Given the description of an element on the screen output the (x, y) to click on. 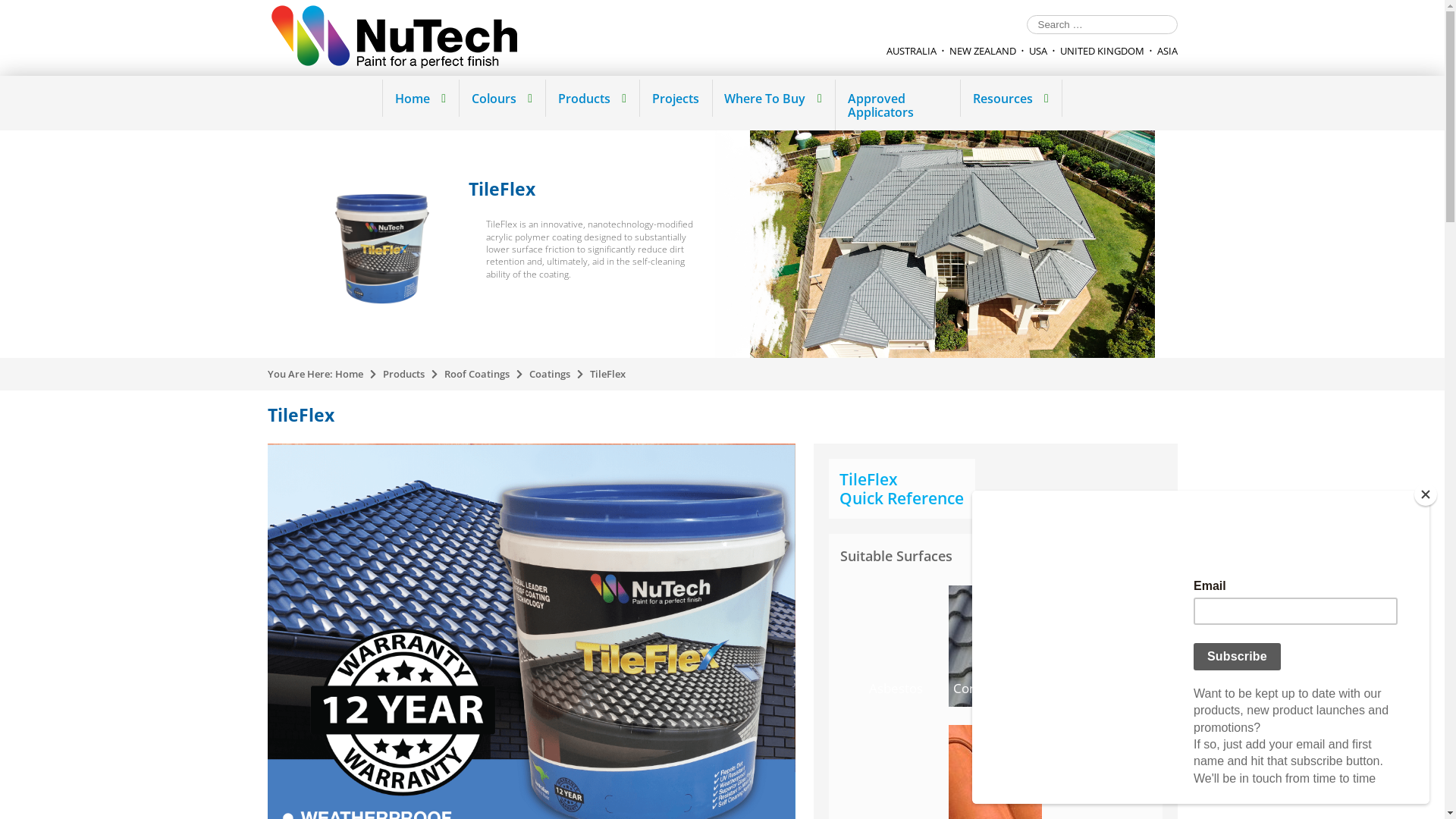
Colours Element type: text (501, 97)
Projects Element type: text (675, 97)
Products Element type: text (591, 97)
Products Element type: text (402, 373)
Approved Applicators Element type: text (896, 104)
UNITED KINGDOM Element type: text (1102, 50)
AUSTRALIA Element type: text (910, 50)
Home Element type: text (419, 97)
Where To Buy Element type: text (772, 97)
Roof Coatings Element type: text (476, 373)
Concrete Tiles Element type: text (994, 645)
Resources Element type: text (1010, 97)
Home Element type: text (349, 373)
Asbestos Element type: text (895, 645)
Search for: Element type: hover (1101, 24)
ASIA Element type: text (1167, 50)
USA Element type: text (1037, 50)
NEW ZEALAND Element type: text (982, 50)
Coatings Element type: text (549, 373)
Metal Roofs Element type: text (1094, 645)
